Given the description of an element on the screen output the (x, y) to click on. 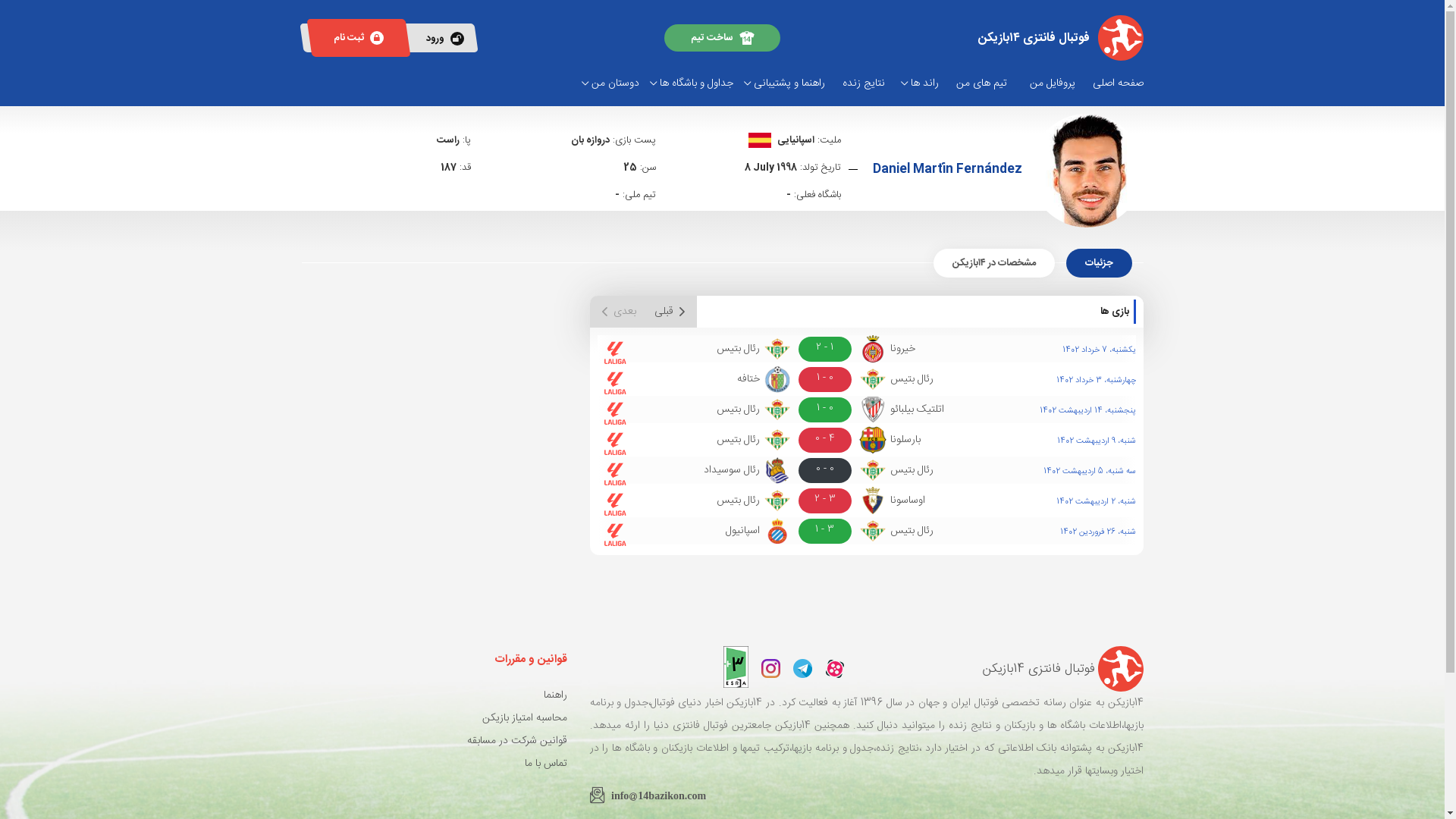
info14bazikon.com Element type: text (647, 793)
